Given the description of an element on the screen output the (x, y) to click on. 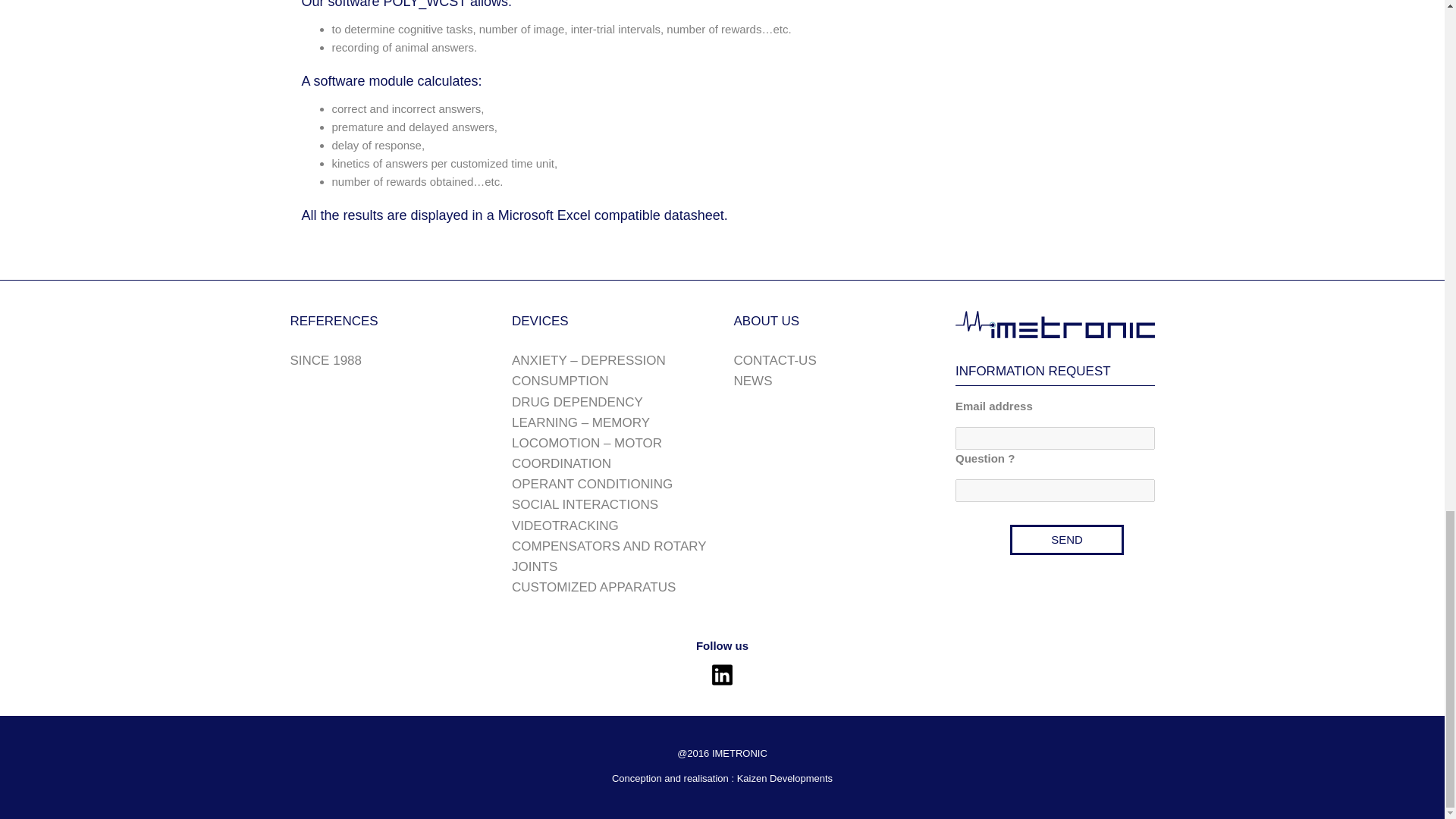
DEVICES (540, 320)
Send (1067, 539)
REFERENCES (333, 320)
CONSUMPTION (560, 380)
SINCE 1988 (325, 359)
